Given the description of an element on the screen output the (x, y) to click on. 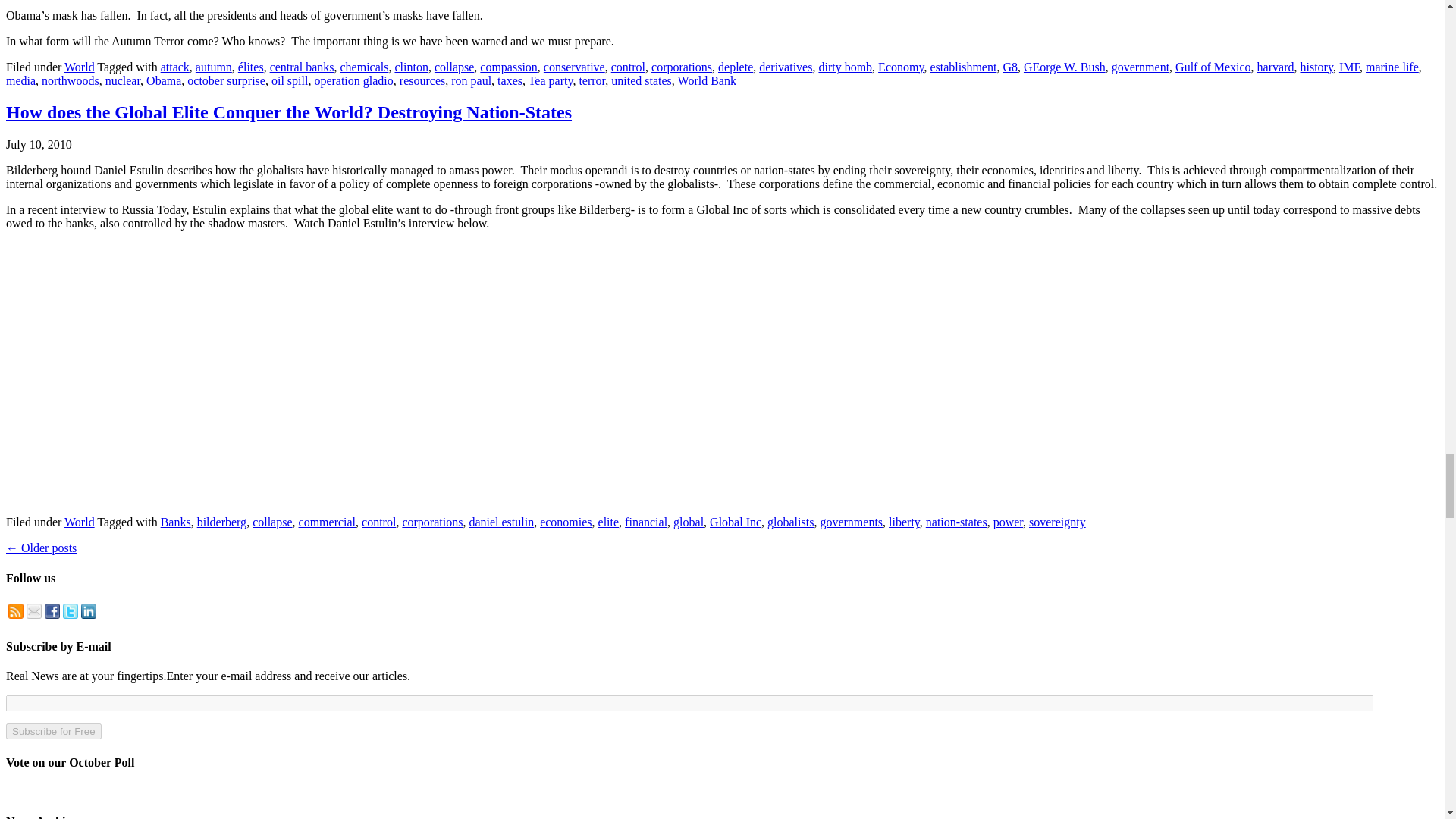
Subscribe for Free (53, 731)
